Given the description of an element on the screen output the (x, y) to click on. 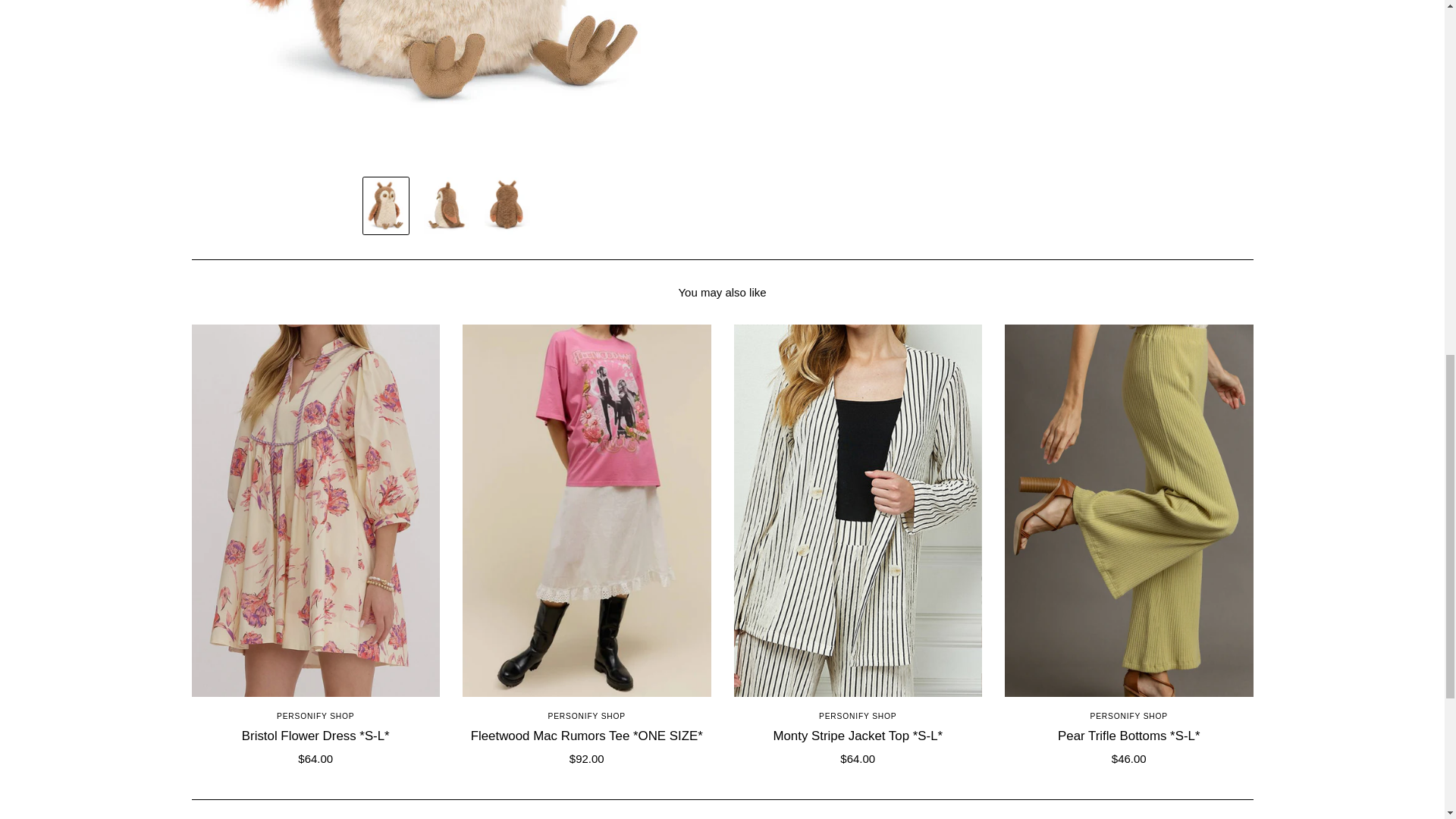
Personify Shop (857, 715)
Personify Shop (587, 715)
Personify Shop (314, 715)
Personify Shop (1128, 715)
